Given the description of an element on the screen output the (x, y) to click on. 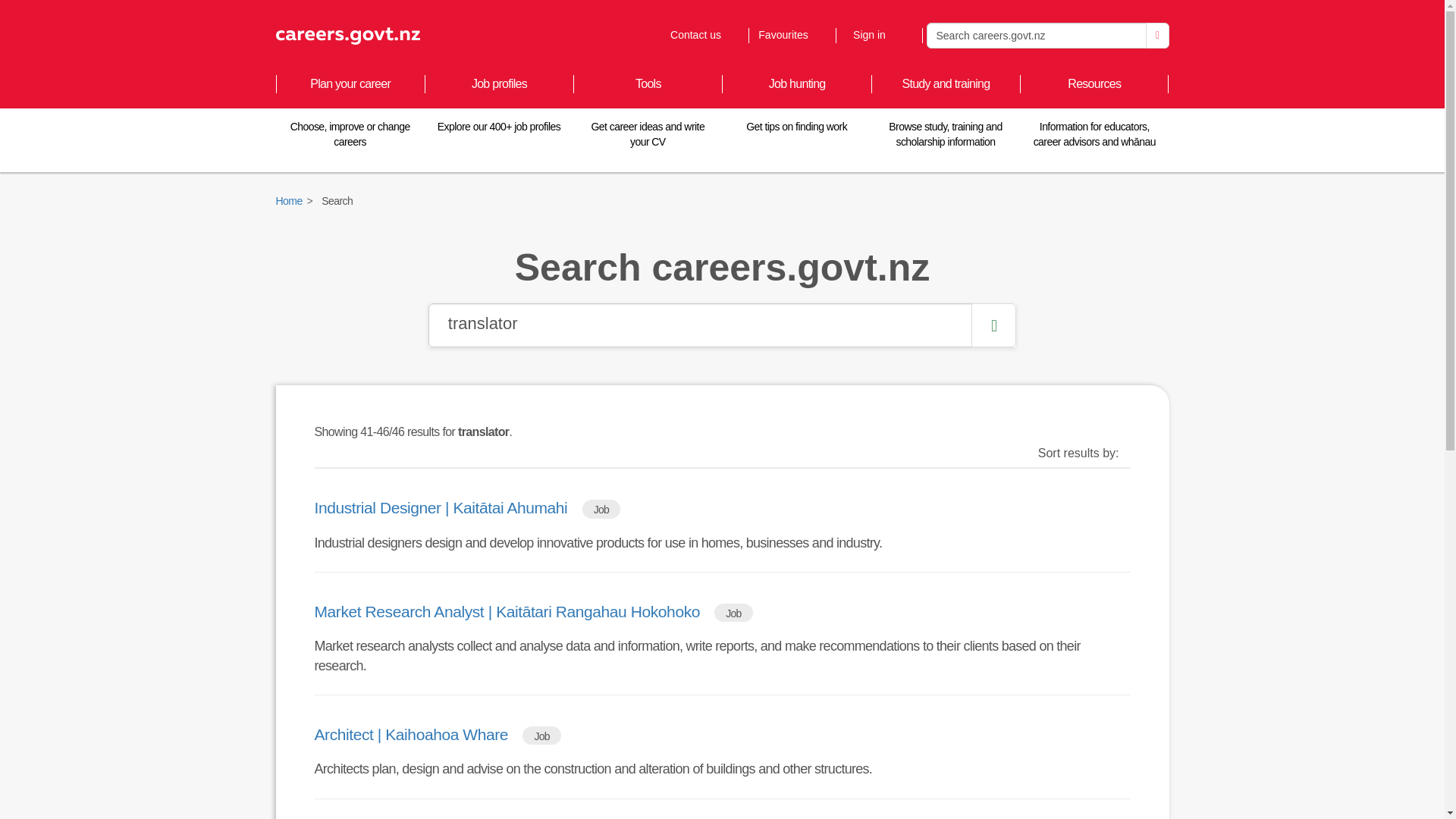
translator (700, 325)
Search (1157, 35)
Favourites (704, 35)
Sign in (791, 35)
Search (878, 35)
